Given the description of an element on the screen output the (x, y) to click on. 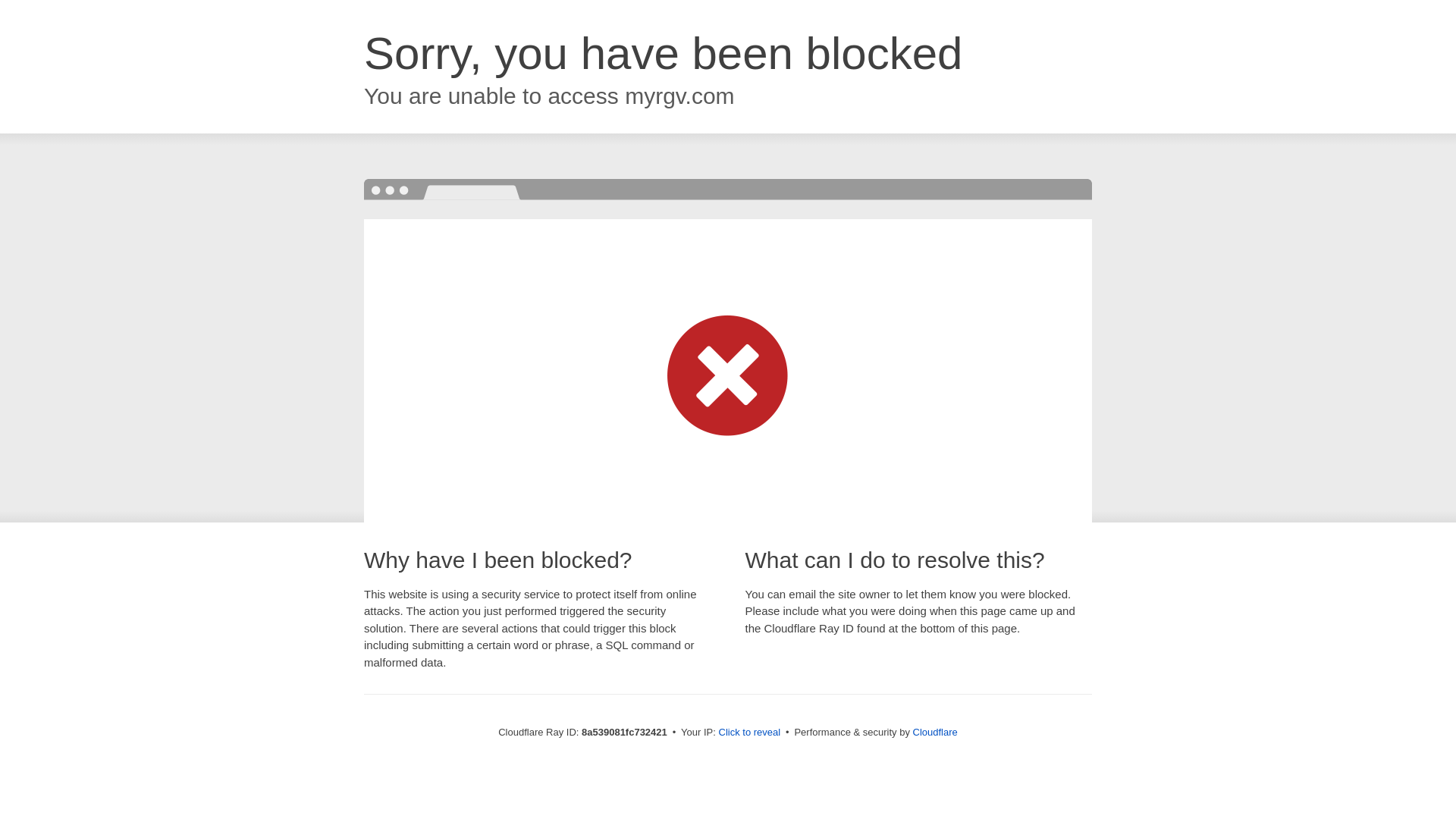
Click to reveal (749, 732)
Cloudflare (935, 731)
